Given the description of an element on the screen output the (x, y) to click on. 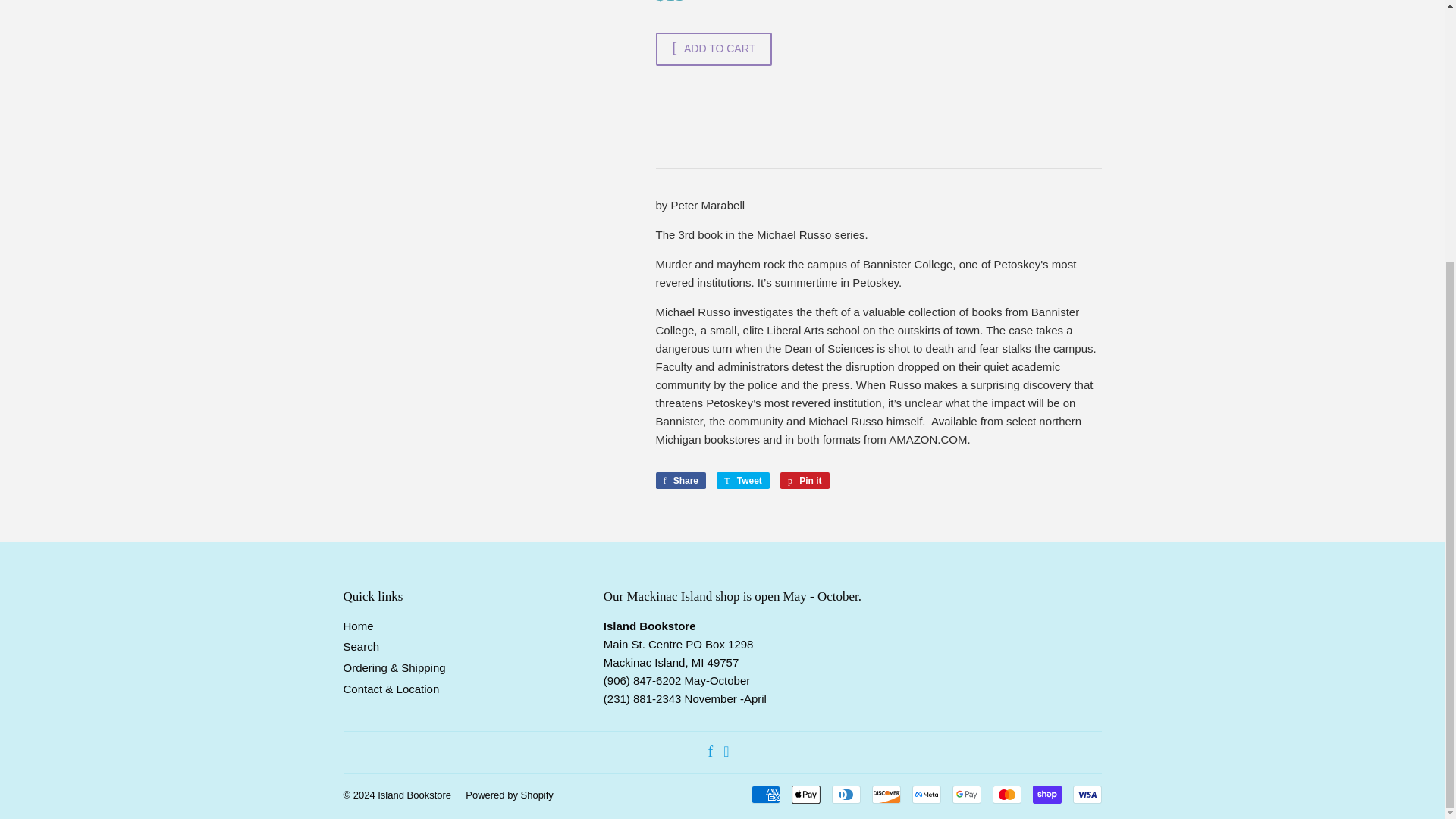
Discover (886, 794)
Google Pay (966, 794)
Diners Club (845, 794)
Tweet on Twitter (743, 480)
Mastercard (1005, 794)
Meta Pay (925, 794)
Visa (1085, 794)
Shop Pay (1046, 794)
Apple Pay (806, 794)
Pin on Pinterest (804, 480)
American Express (764, 794)
Share on Facebook (680, 480)
